Given the description of an element on the screen output the (x, y) to click on. 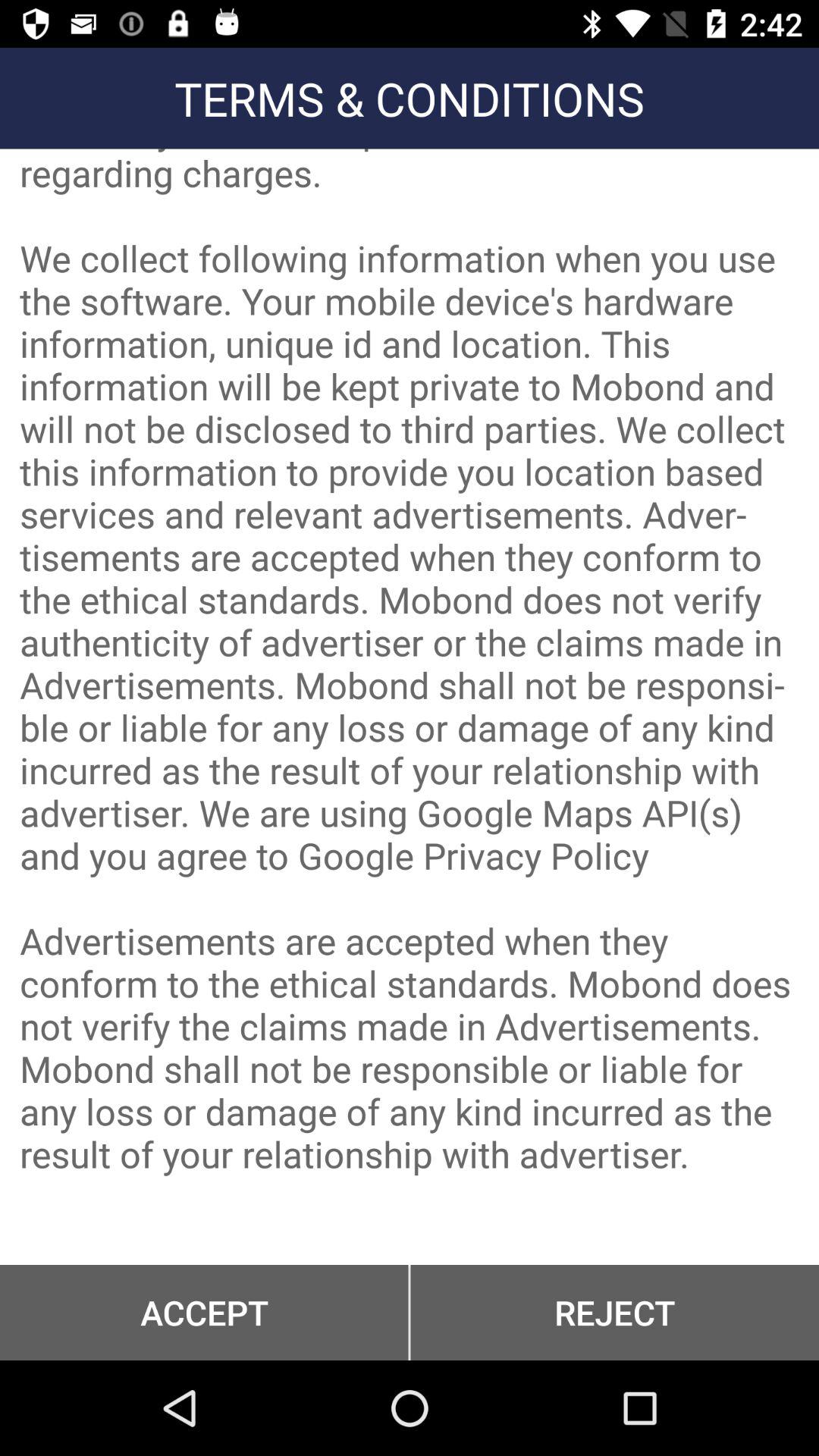
turn off the accept (204, 1312)
